Given the description of an element on the screen output the (x, y) to click on. 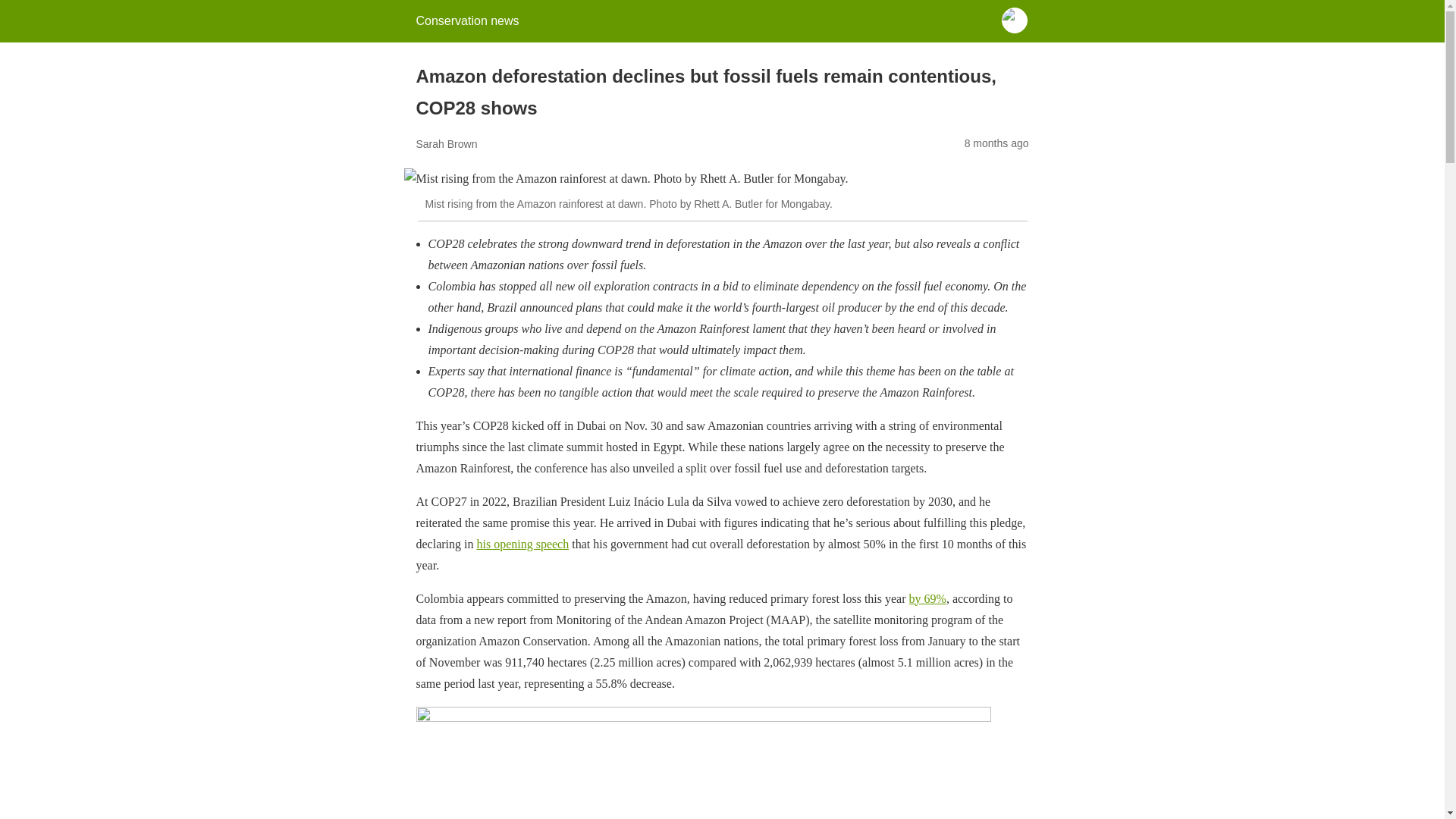
Conservation news (466, 20)
his opening speech (522, 543)
